Given the description of an element on the screen output the (x, y) to click on. 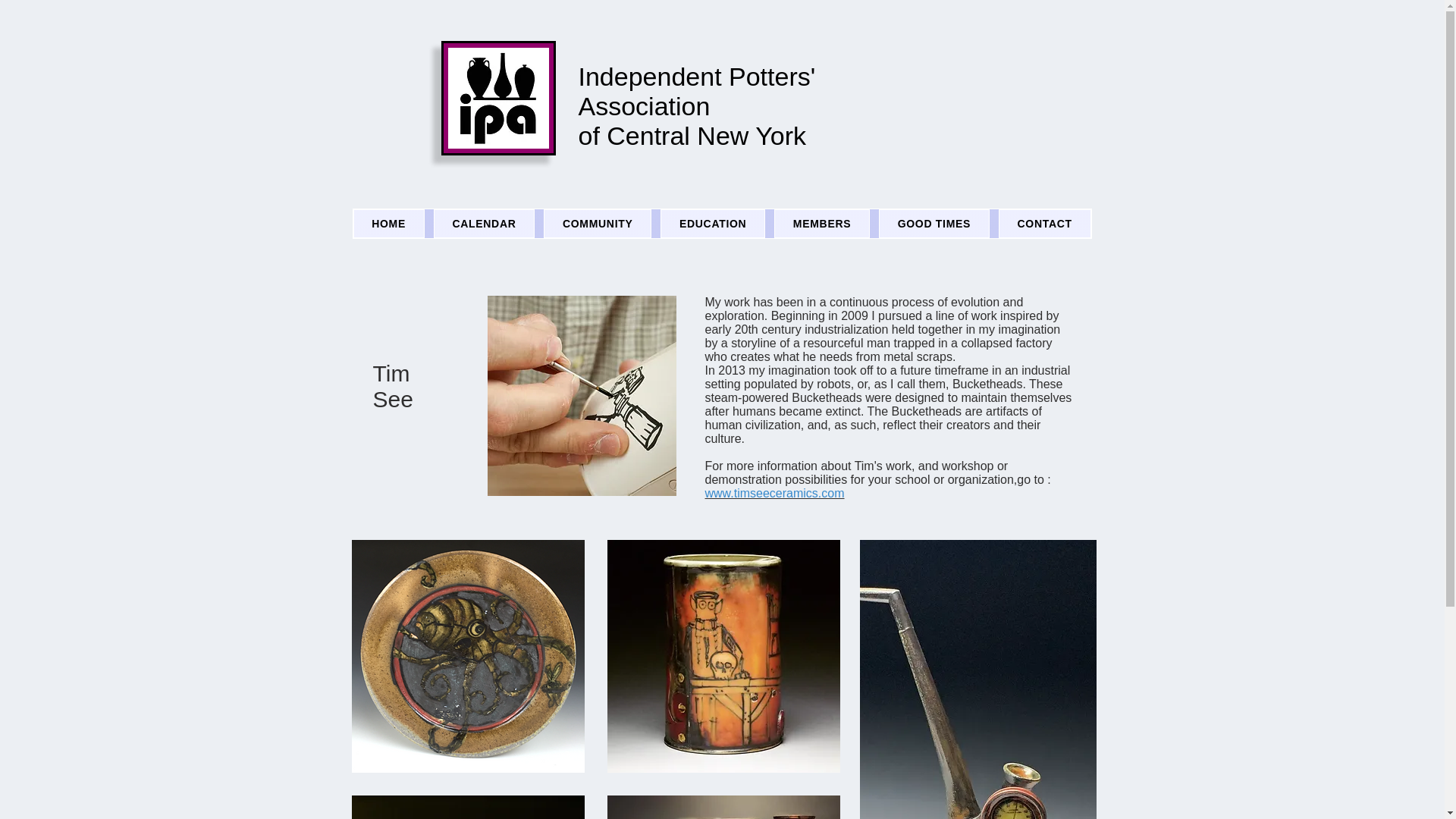
EDUCATION (713, 223)
HOME (389, 223)
CALENDAR (484, 223)
COMMUNITY (596, 223)
MEMBERS (821, 223)
